Given the description of an element on the screen output the (x, y) to click on. 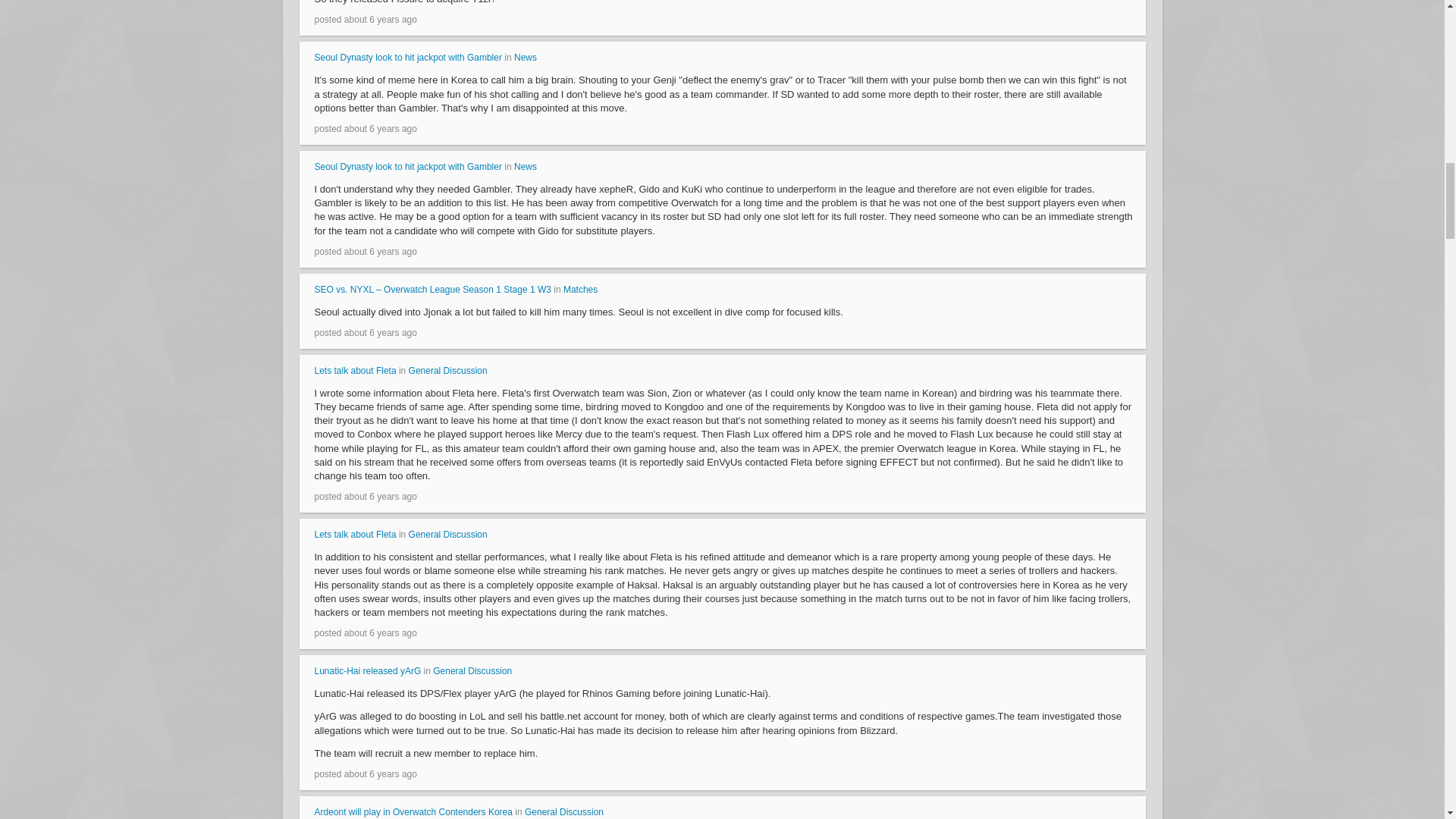
News (525, 166)
Seoul Dynasty look to hit jackpot with Gambler (407, 57)
General Discussion (448, 370)
Lets talk about Fleta (355, 534)
Lunatic-Hai released yArG (367, 670)
General Discussion (472, 670)
General Discussion (564, 811)
News (525, 57)
Lets talk about Fleta (355, 370)
Ardeont will play in Overwatch Contenders Korea (413, 811)
